Given the description of an element on the screen output the (x, y) to click on. 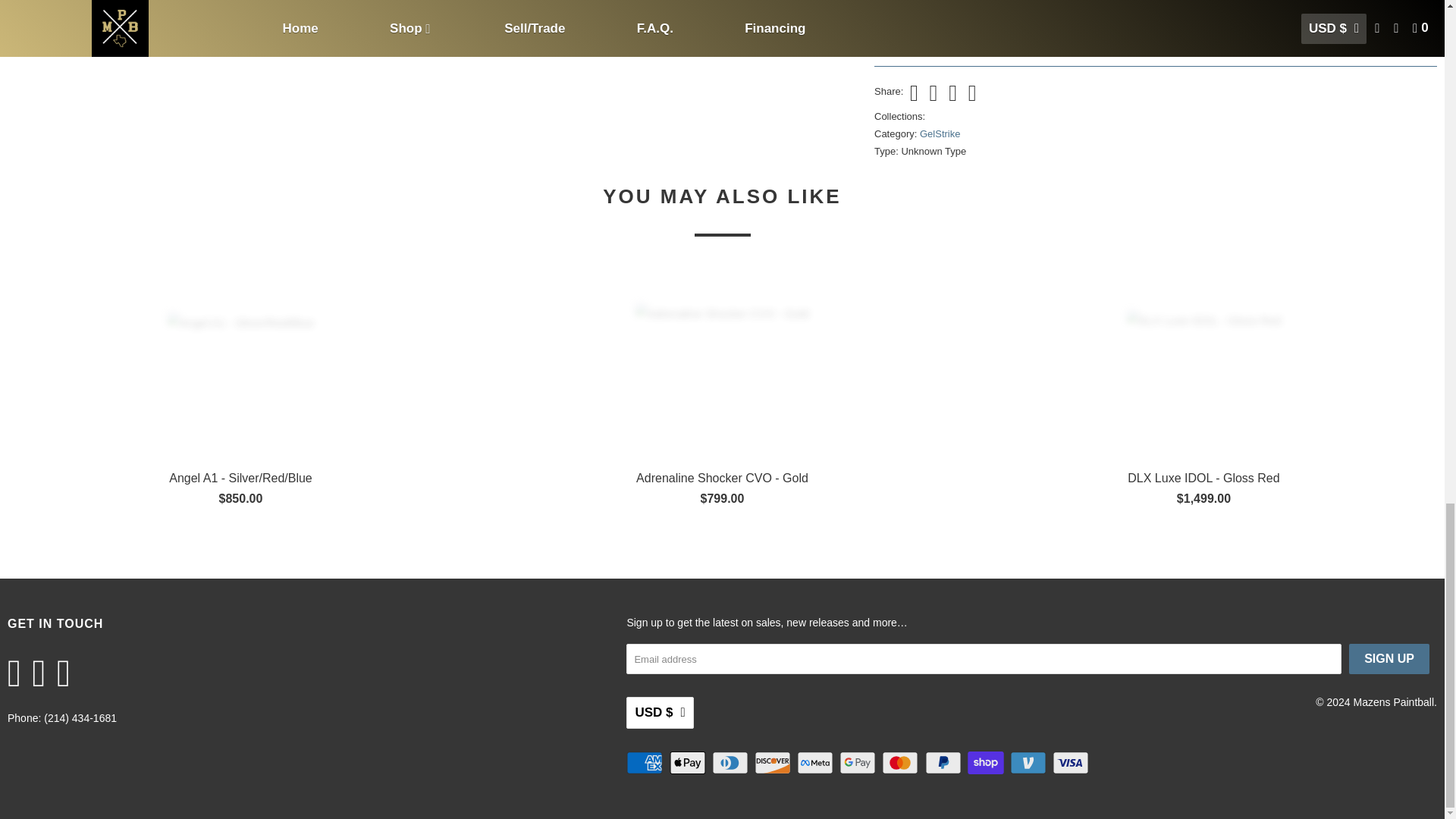
Diners Club (731, 762)
Mastercard (901, 762)
Sign Up (1389, 658)
American Express (645, 762)
PayPal (943, 762)
Google Pay (859, 762)
Products tagged GelStrike (939, 133)
Visa (1072, 762)
Discover (773, 762)
Apple Pay (689, 762)
